Given the description of an element on the screen output the (x, y) to click on. 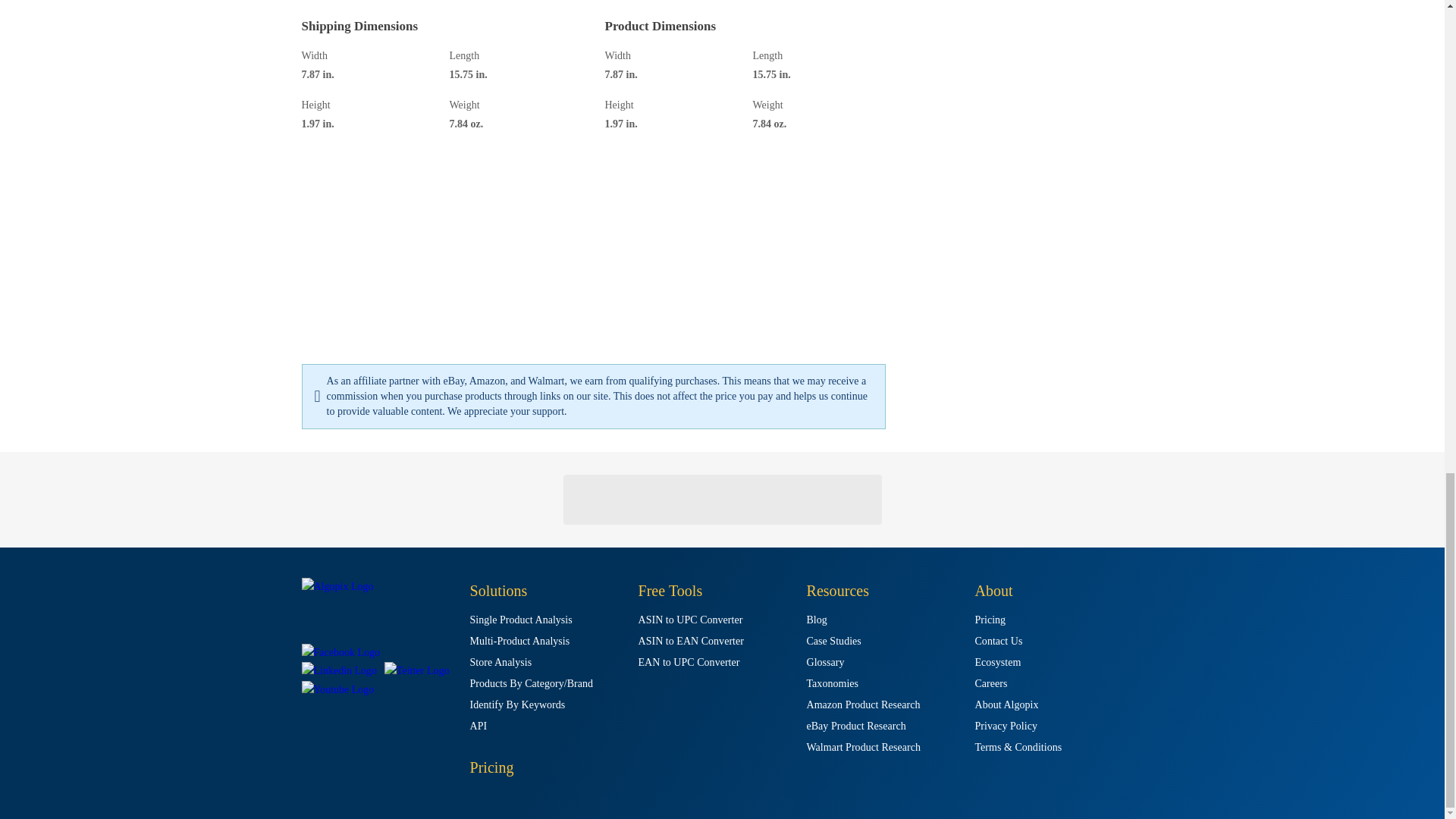
Pricing (491, 767)
Identify By Keywords (518, 704)
API (478, 726)
Single Product Analysis (521, 619)
ASIN to UPC Converter (690, 619)
Multi-Product Analysis (520, 641)
Store Analysis (501, 662)
